Given the description of an element on the screen output the (x, y) to click on. 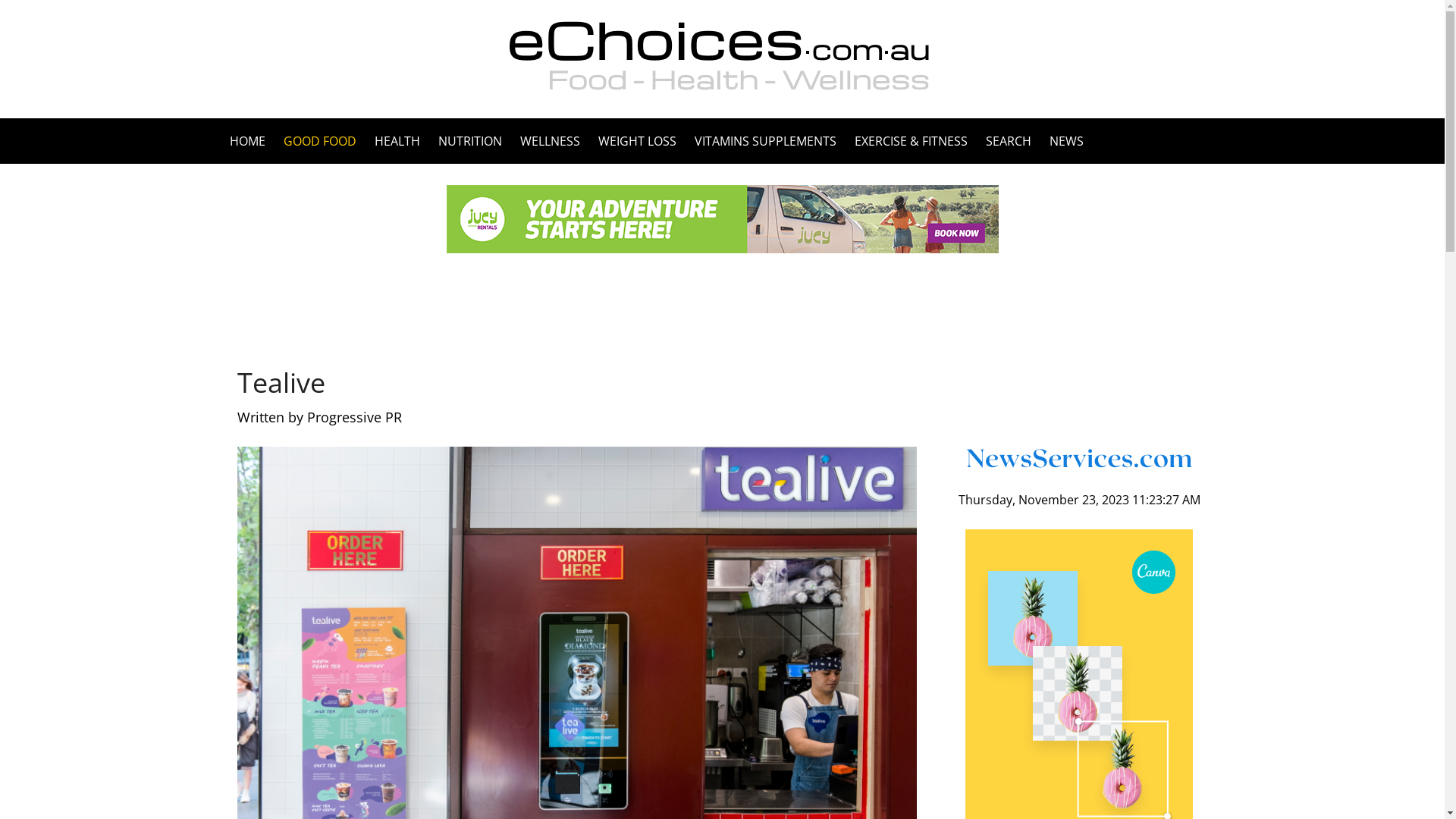
HEALTH Element type: text (397, 140)
Tealive Element type: text (280, 382)
WEIGHT LOSS Element type: text (636, 140)
SEARCH Element type: text (1008, 140)
NEWS Element type: text (1061, 140)
VITAMINS SUPPLEMENTS Element type: text (765, 140)
NUTRITION Element type: text (470, 140)
EXERCISE & FITNESS Element type: text (909, 140)
WELLNESS Element type: text (550, 140)
HOME Element type: text (251, 140)
GOOD FOOD Element type: text (319, 140)
